Given the description of an element on the screen output the (x, y) to click on. 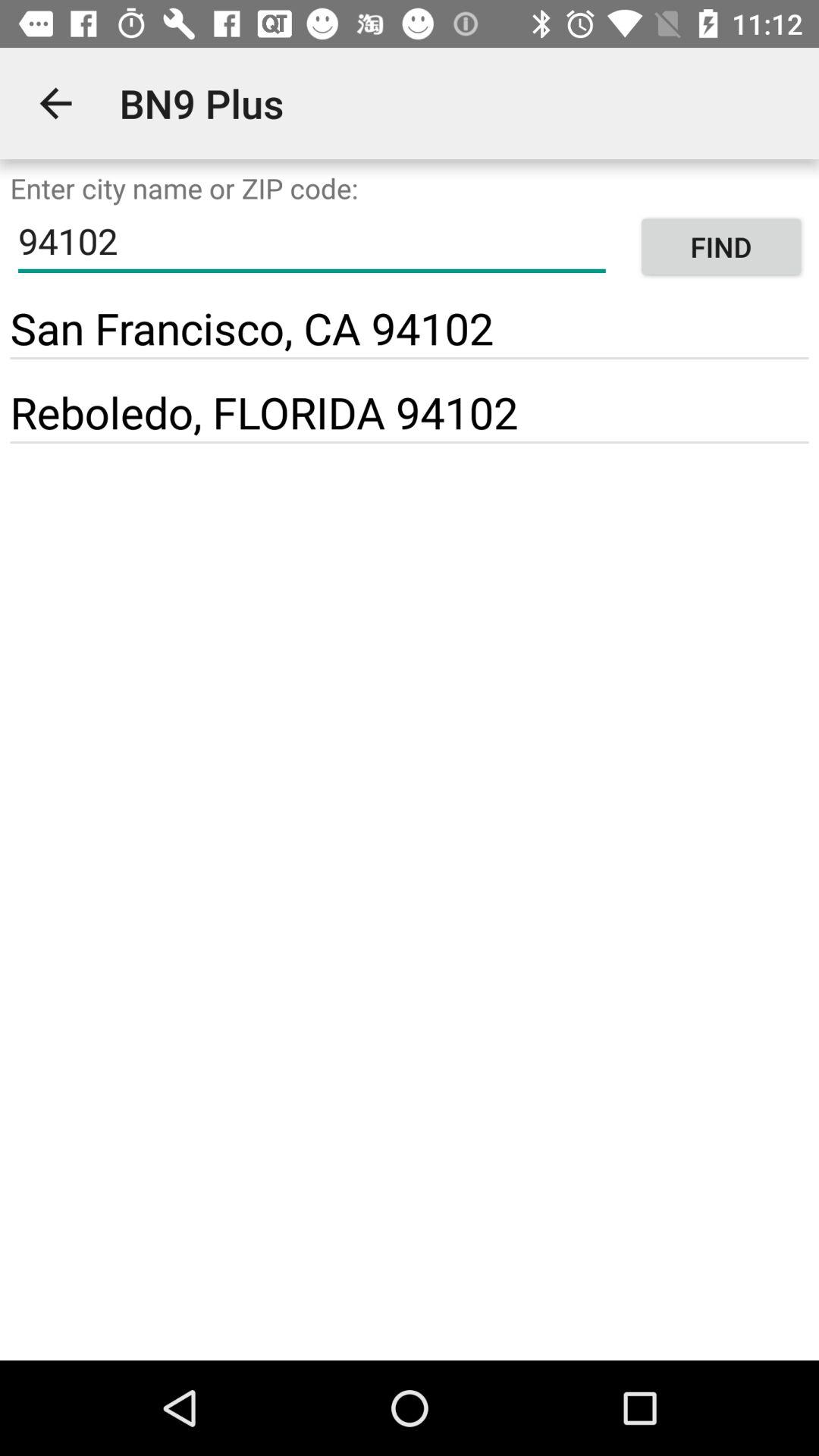
turn off item below 94102 (251, 327)
